Given the description of an element on the screen output the (x, y) to click on. 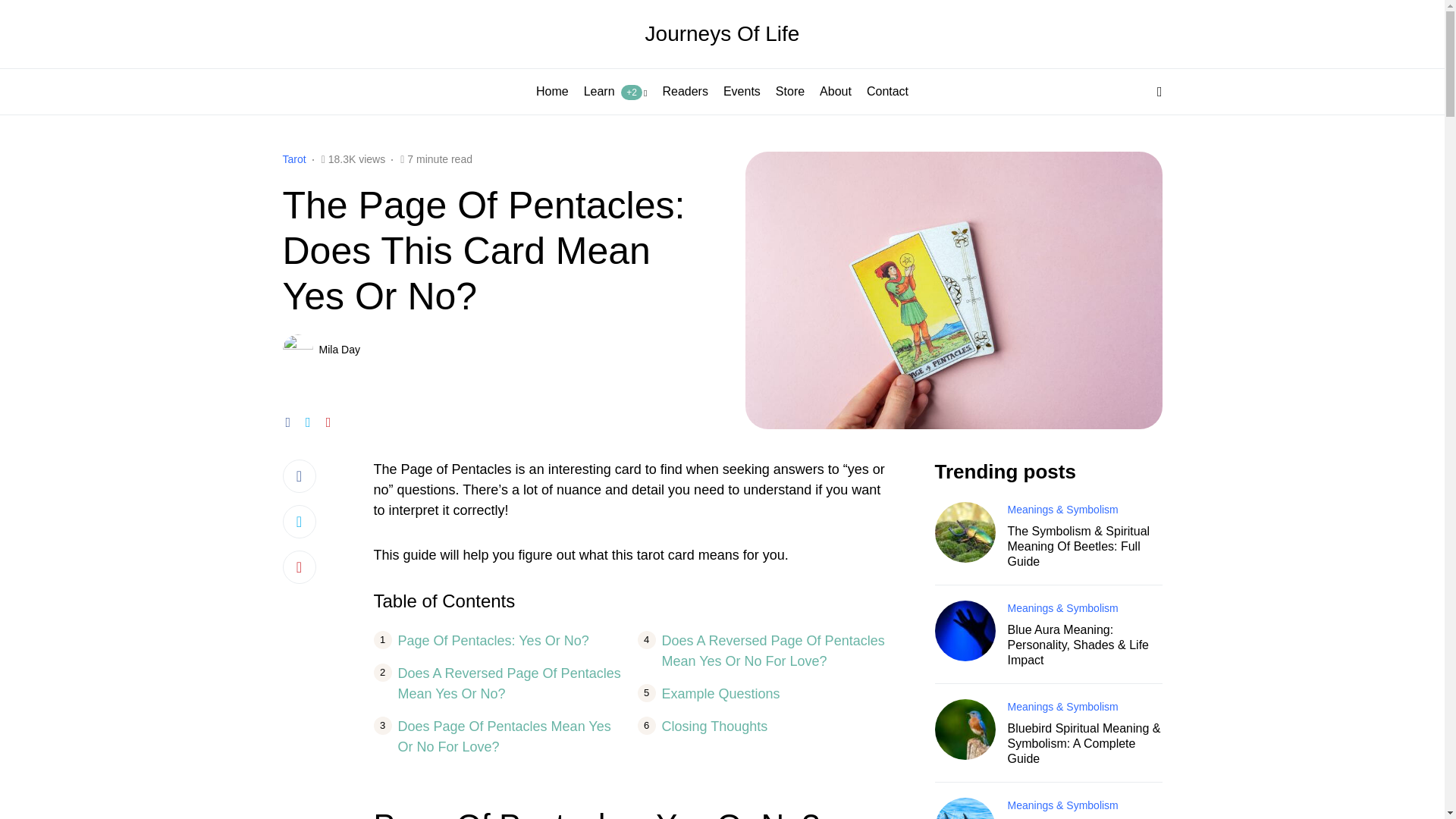
Readers (684, 91)
Journeys Of Life (722, 33)
Contact (887, 91)
